Given the description of an element on the screen output the (x, y) to click on. 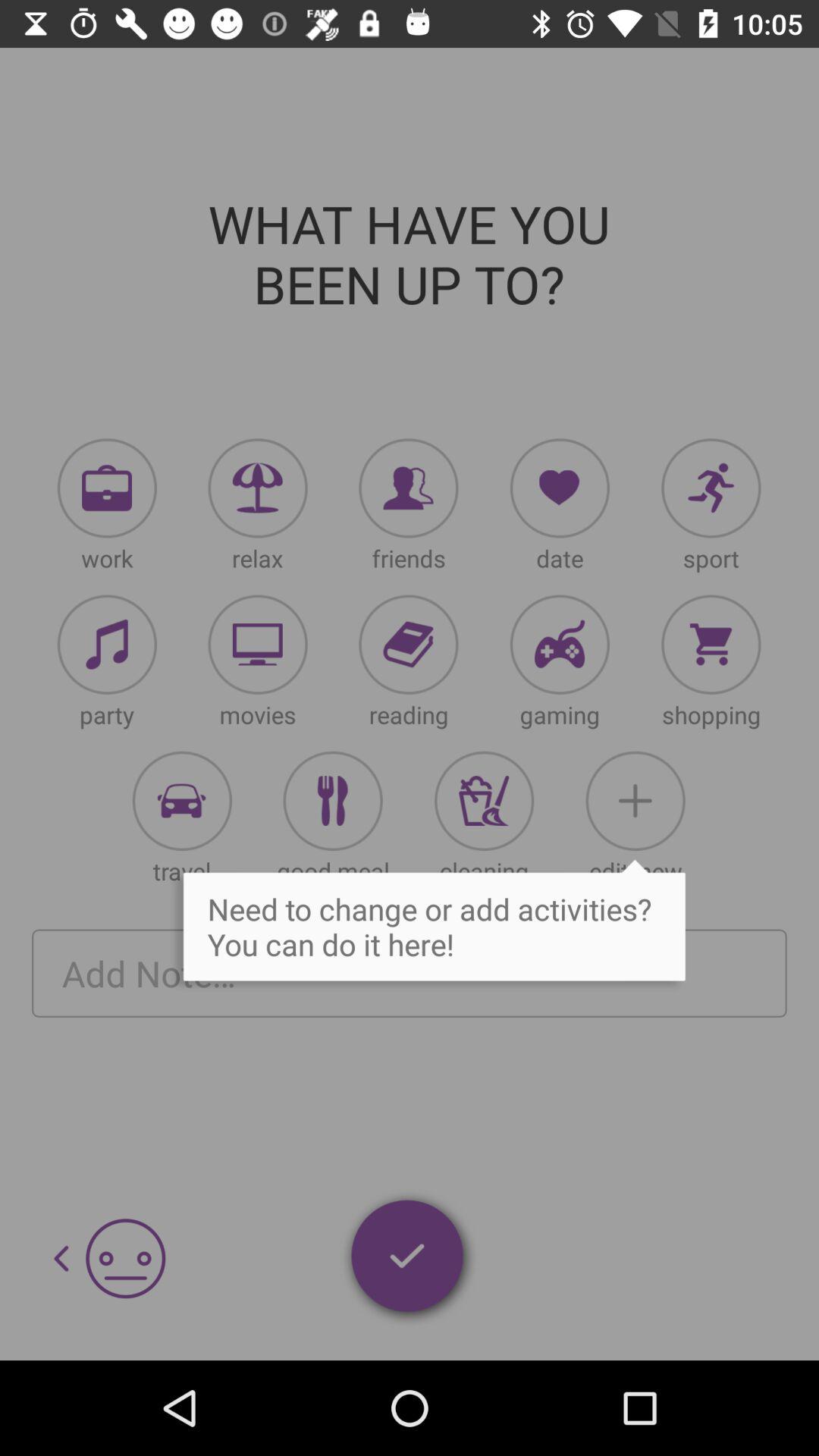
add shopping (710, 644)
